Given the description of an element on the screen output the (x, y) to click on. 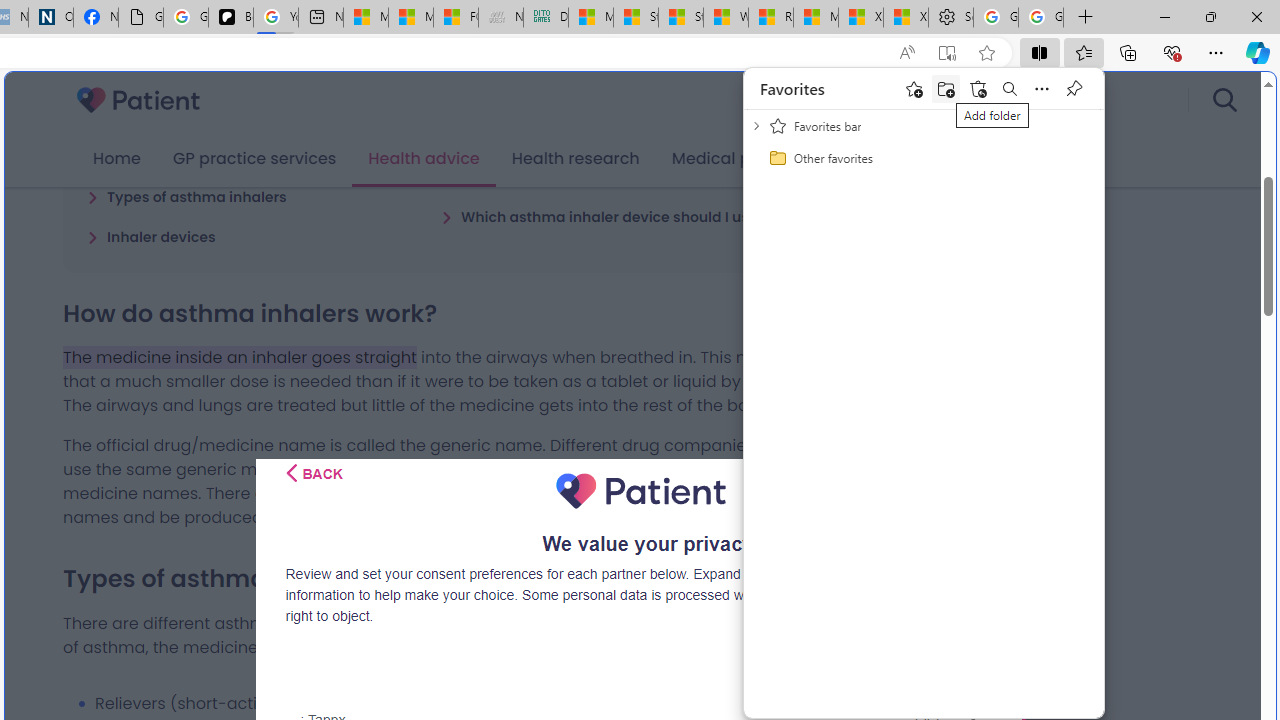
Add this page to favorites (913, 88)
Restore deleted favorites (977, 88)
Search favorites (1009, 88)
Pin favorites (1073, 88)
Google Analytics Opt-out Browser Add-on Download Page (140, 17)
